Given the description of an element on the screen output the (x, y) to click on. 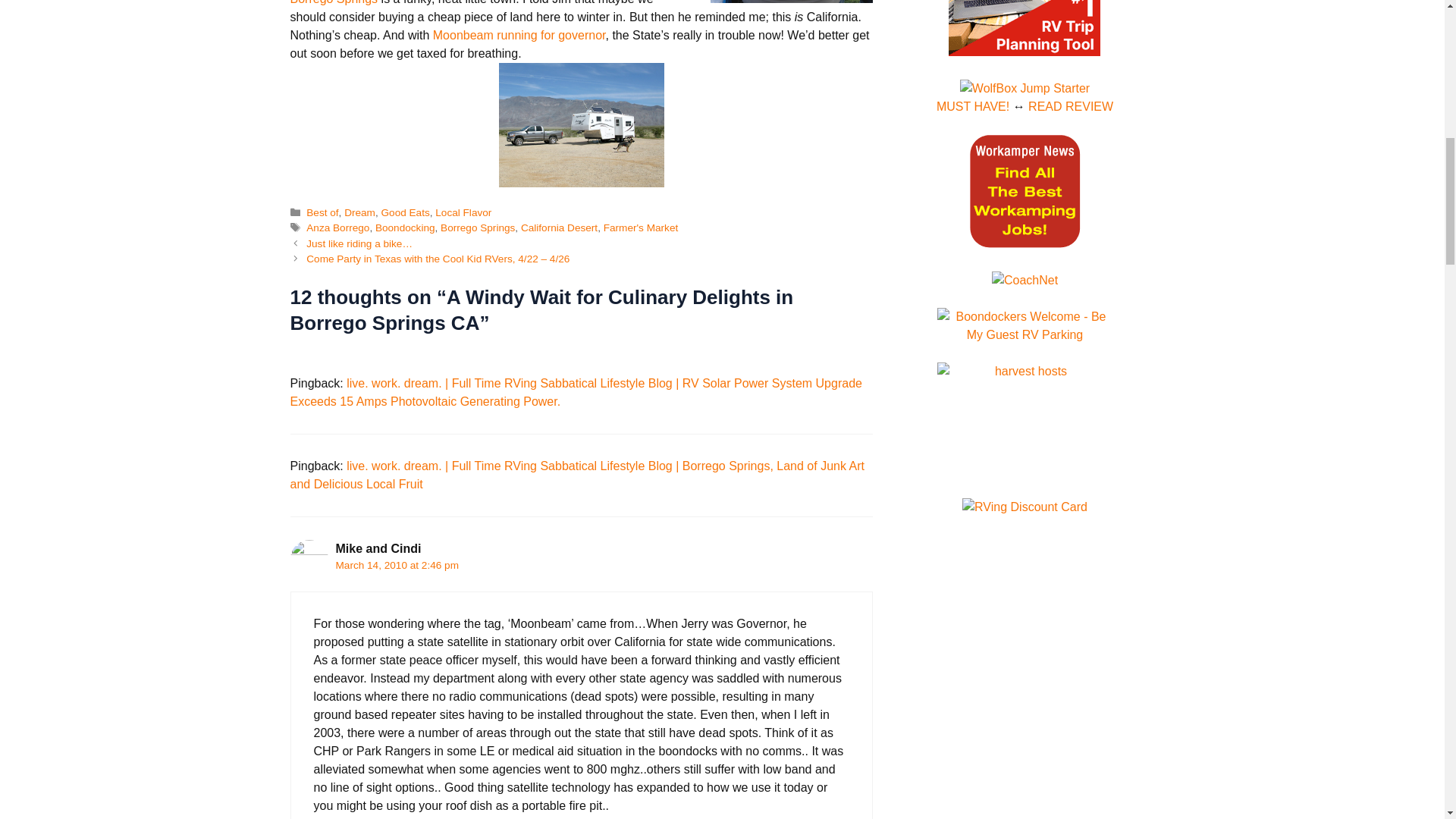
Dream (359, 212)
Moonbeam running for governor (518, 34)
Best of (321, 212)
Borrego Springs (333, 2)
